Given the description of an element on the screen output the (x, y) to click on. 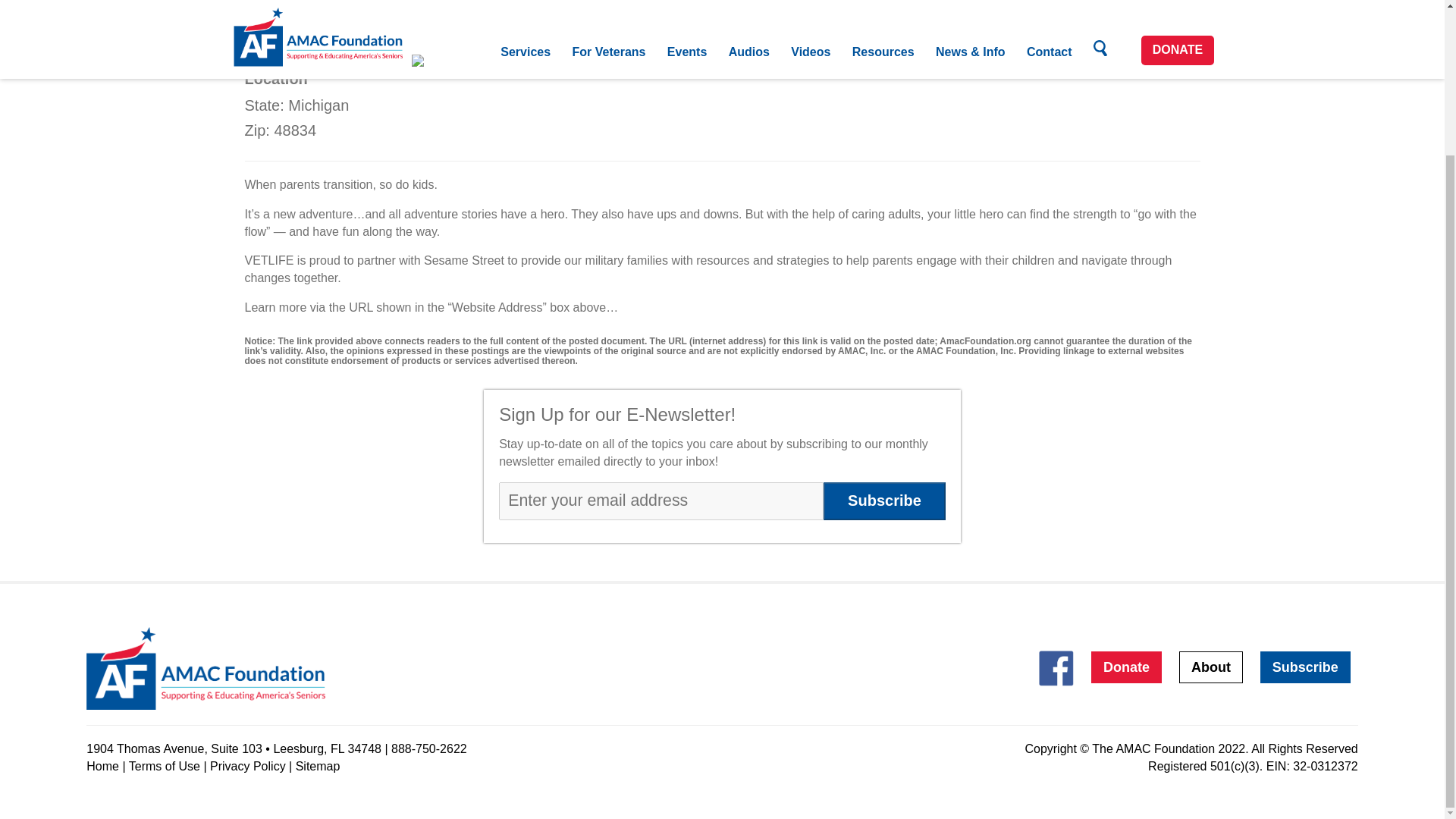
Subscribe (884, 501)
Home (102, 766)
Subscribe (884, 501)
About (1211, 667)
Terms of Use (164, 766)
Privacy Policy (247, 766)
Donate (1125, 667)
Sitemap (317, 766)
Subscribe (1305, 667)
